Given the description of an element on the screen output the (x, y) to click on. 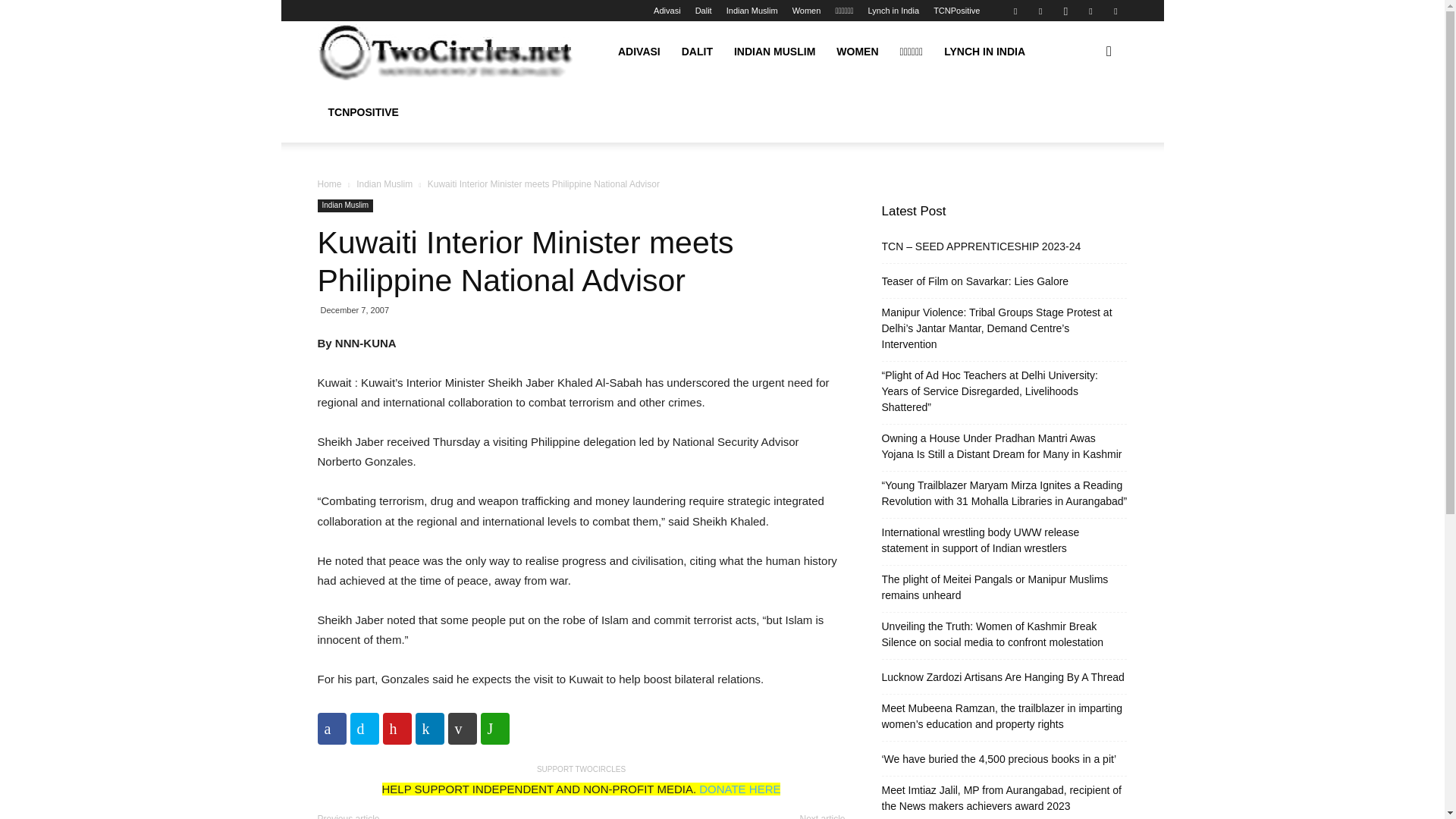
Instagram (1065, 10)
Indian Muslim (751, 10)
Share on LinkedIn (429, 728)
Home (328, 184)
Lynch in India (892, 10)
Share on Facebook (331, 728)
INDIAN MUSLIM (774, 51)
WOMEN (856, 51)
Youtube (1114, 10)
Dalit (703, 10)
